Given the description of an element on the screen output the (x, y) to click on. 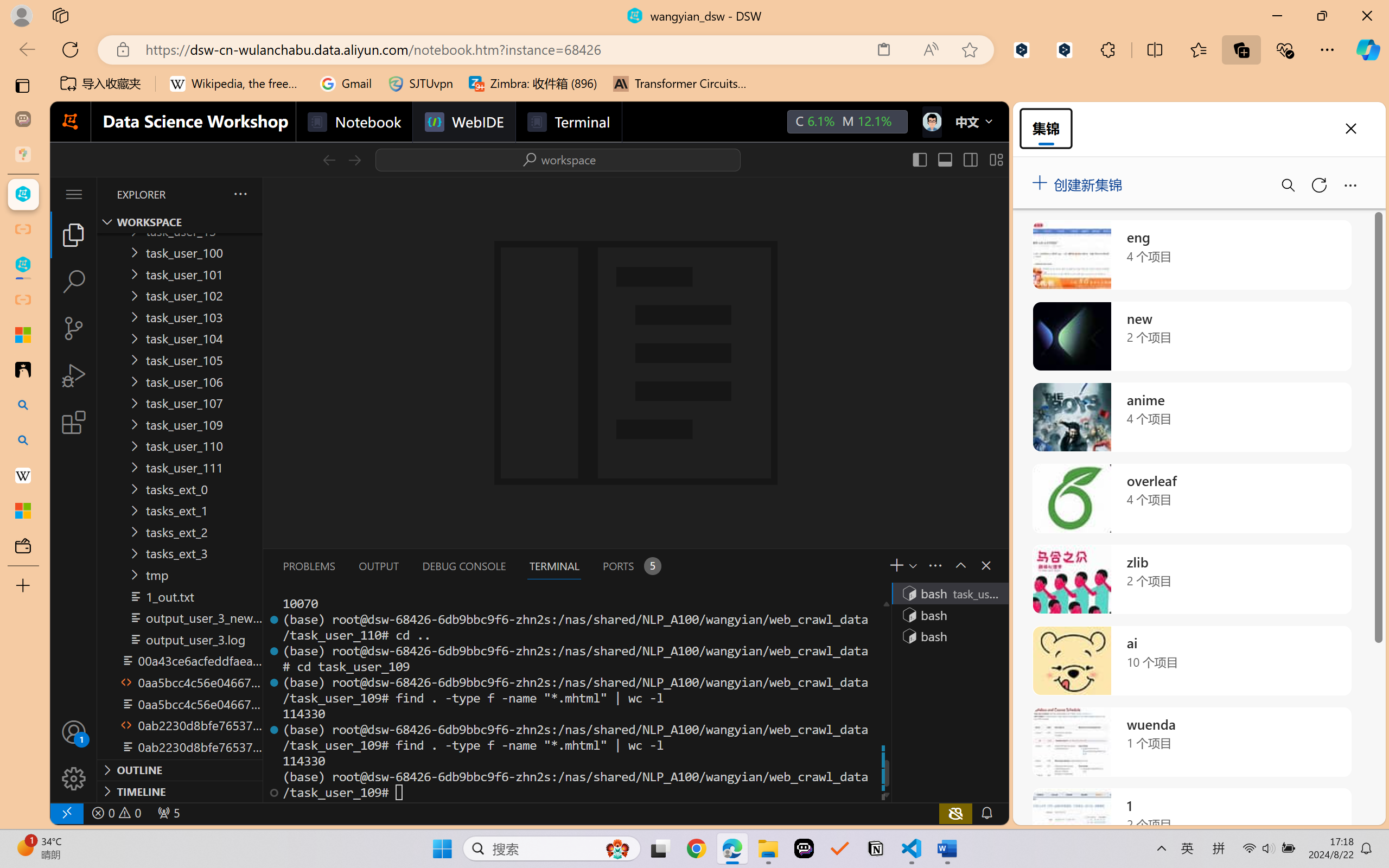
Earth - Wikipedia (22, 475)
Forwarded Ports: 36301, 47065, 38781, 45817, 50331 (167, 812)
Terminal (568, 121)
Toggle Primary Side Bar (Ctrl+B) (919, 159)
Close Panel (986, 565)
Terminal 3 bash (949, 635)
WebIDE (463, 121)
wangyian_webcrawler - DSW (22, 264)
Notifications (986, 812)
